Given the description of an element on the screen output the (x, y) to click on. 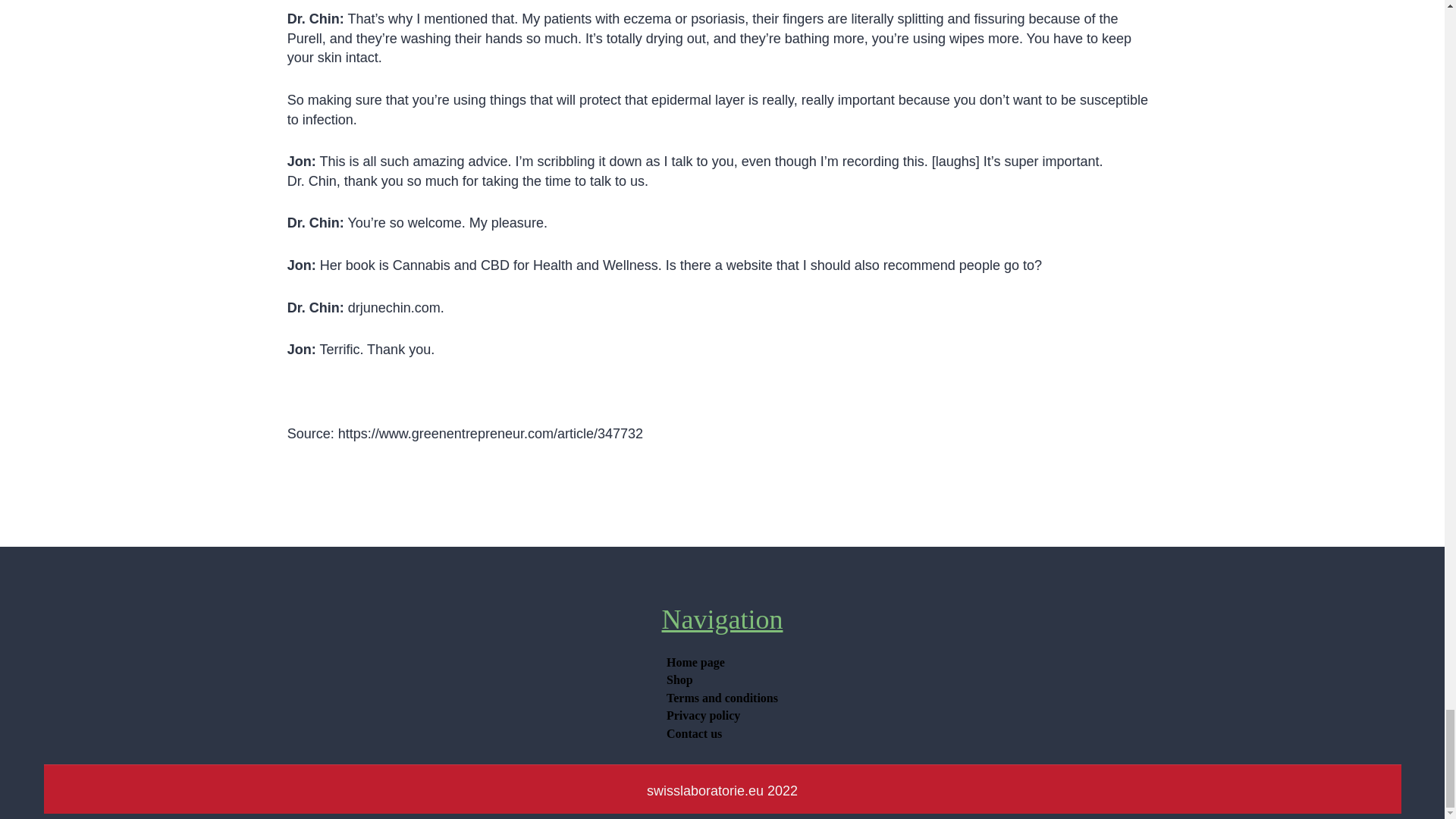
Shop (679, 679)
Home page (695, 662)
Terms and conditions (722, 698)
Contact us (693, 733)
Privacy policy (703, 715)
